Given the description of an element on the screen output the (x, y) to click on. 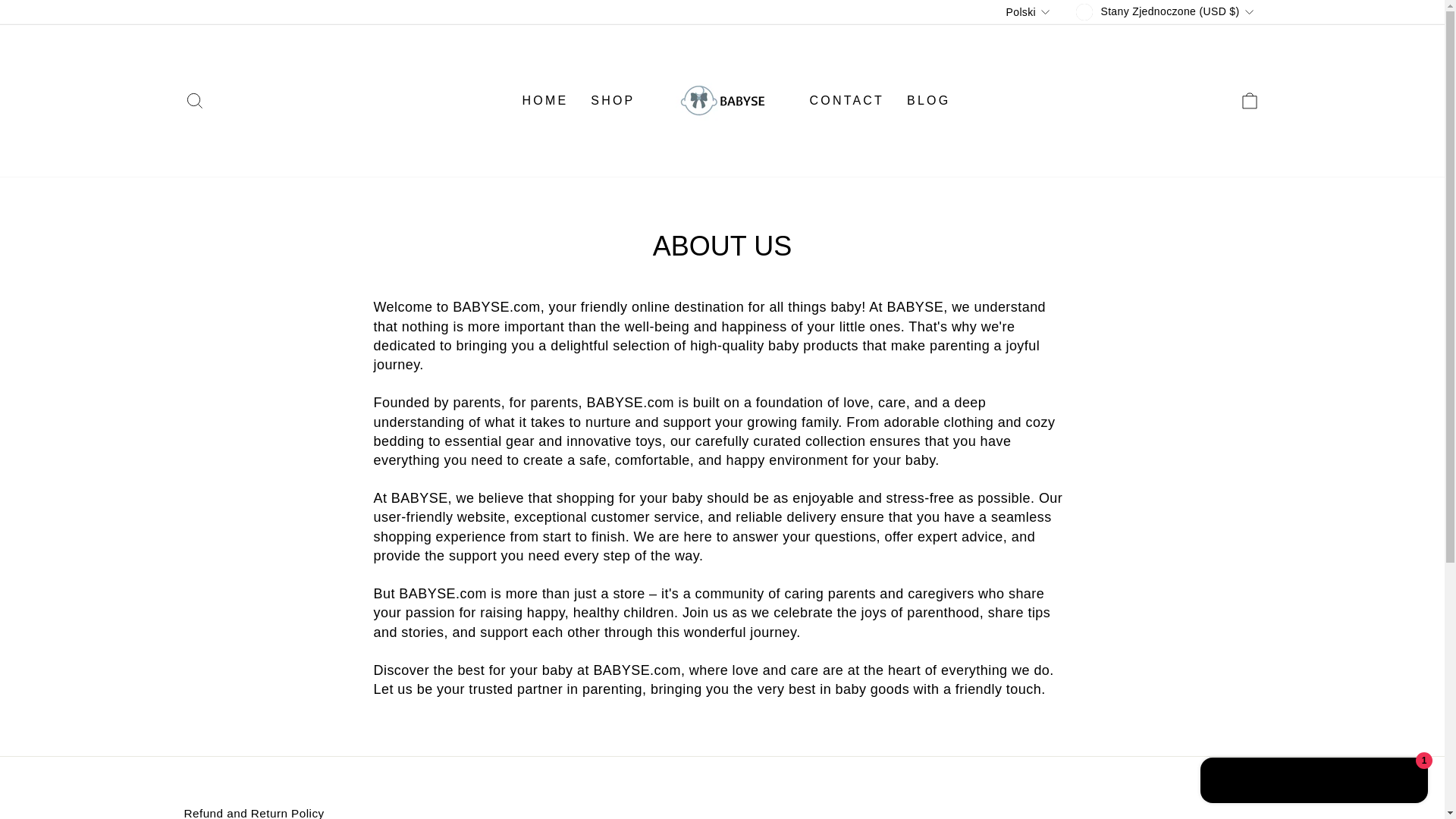
Czat w sklepie online Shopify (1313, 781)
ICON-BAG-MINIMAL (1249, 100)
ICON-SEARCH (194, 100)
Polski (1030, 11)
